Given the description of an element on the screen output the (x, y) to click on. 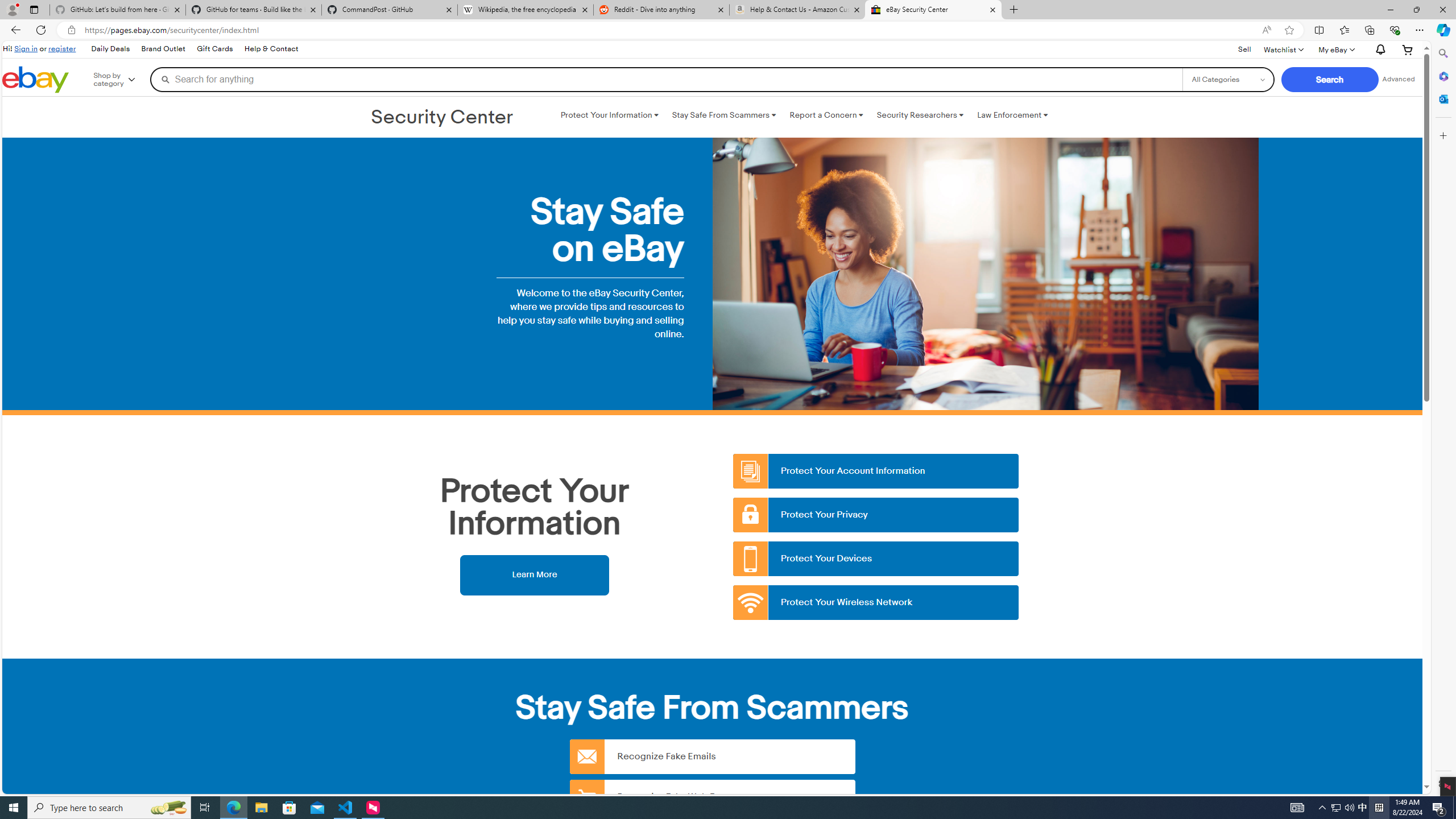
Search (1442, 53)
Report a Concern  (826, 115)
Daily Deals (109, 49)
Address and search bar (669, 29)
Notifications (1377, 49)
Wikipedia, the free encyclopedia (525, 9)
Protect Your Devices (876, 558)
App bar (728, 29)
Close Outlook pane (1442, 98)
Help & Contact Us - Amazon Customer Service - Sleeping (797, 9)
Recognize Fake Emails (712, 756)
Stay Safe From Scammers  (723, 115)
